Given the description of an element on the screen output the (x, y) to click on. 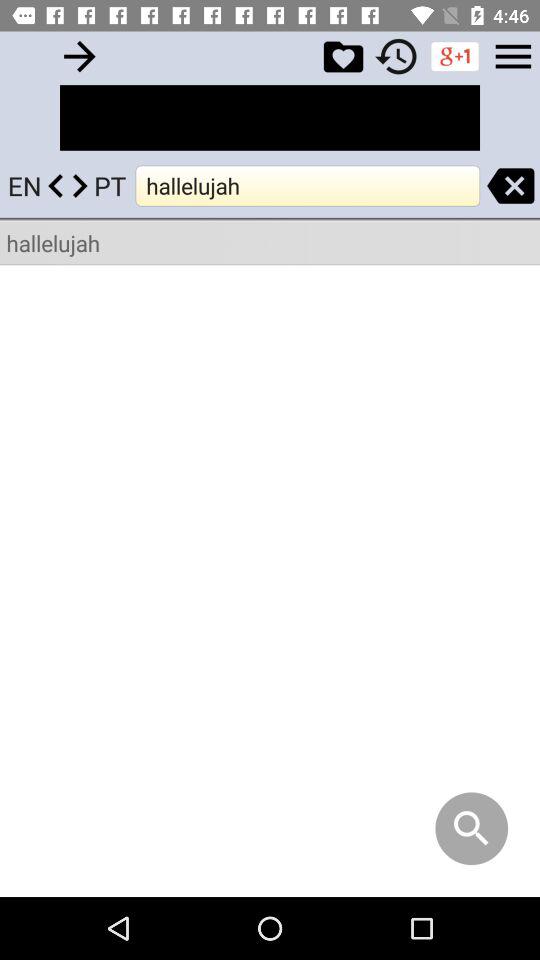
explore menu options (513, 56)
